Given the description of an element on the screen output the (x, y) to click on. 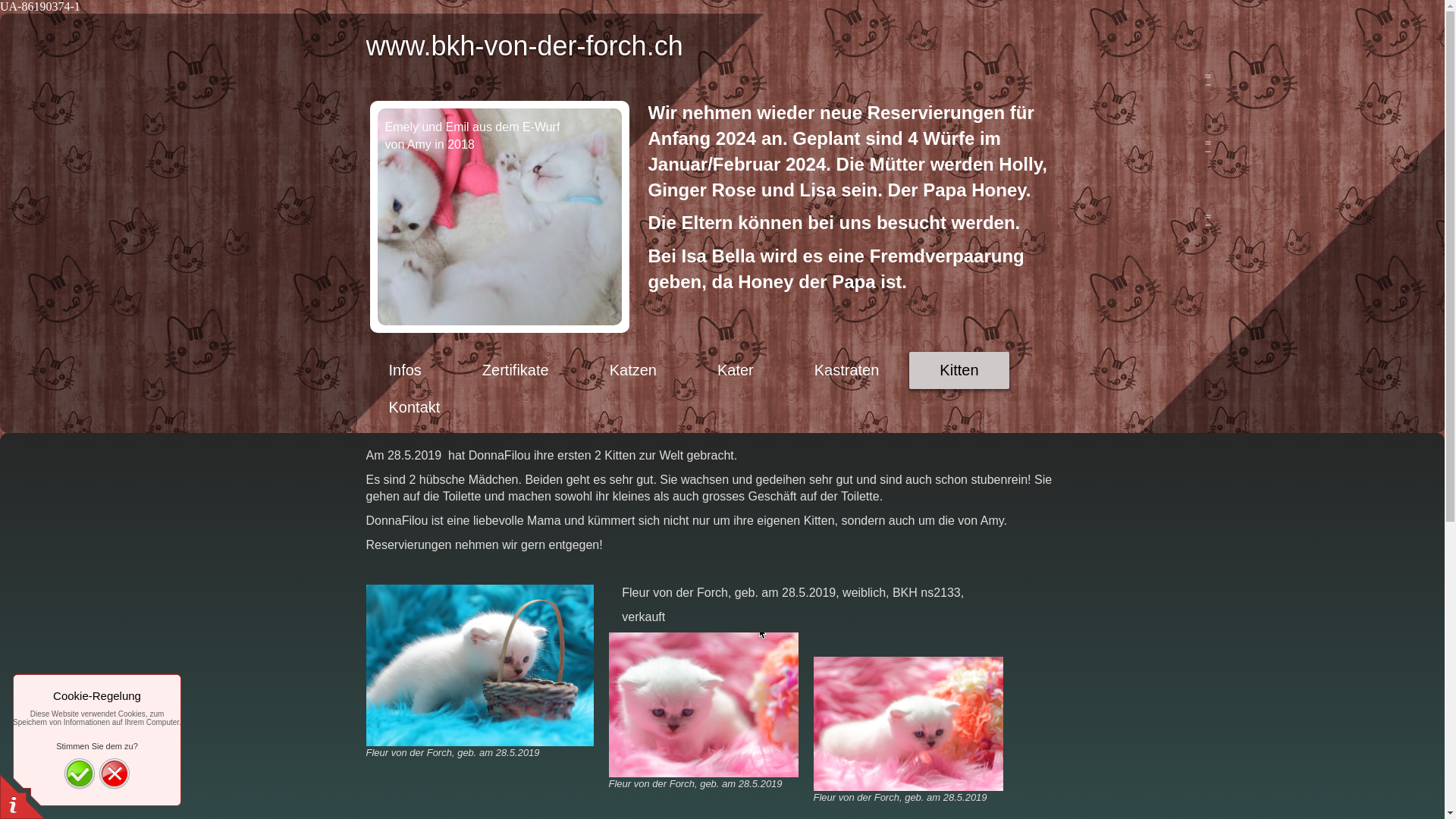
Kastraten Element type: text (847, 369)
Kontakt Element type: text (413, 407)
Kater Element type: text (735, 369)
Zertifikate Element type: text (515, 369)
Kitten Element type: text (958, 369)
Nein danke, weiter zu Google Element type: hover (114, 774)
Infos Element type: text (404, 369)
Katzen Element type: text (633, 369)
Ja, ich stimme zu Element type: hover (79, 774)
